Given the description of an element on the screen output the (x, y) to click on. 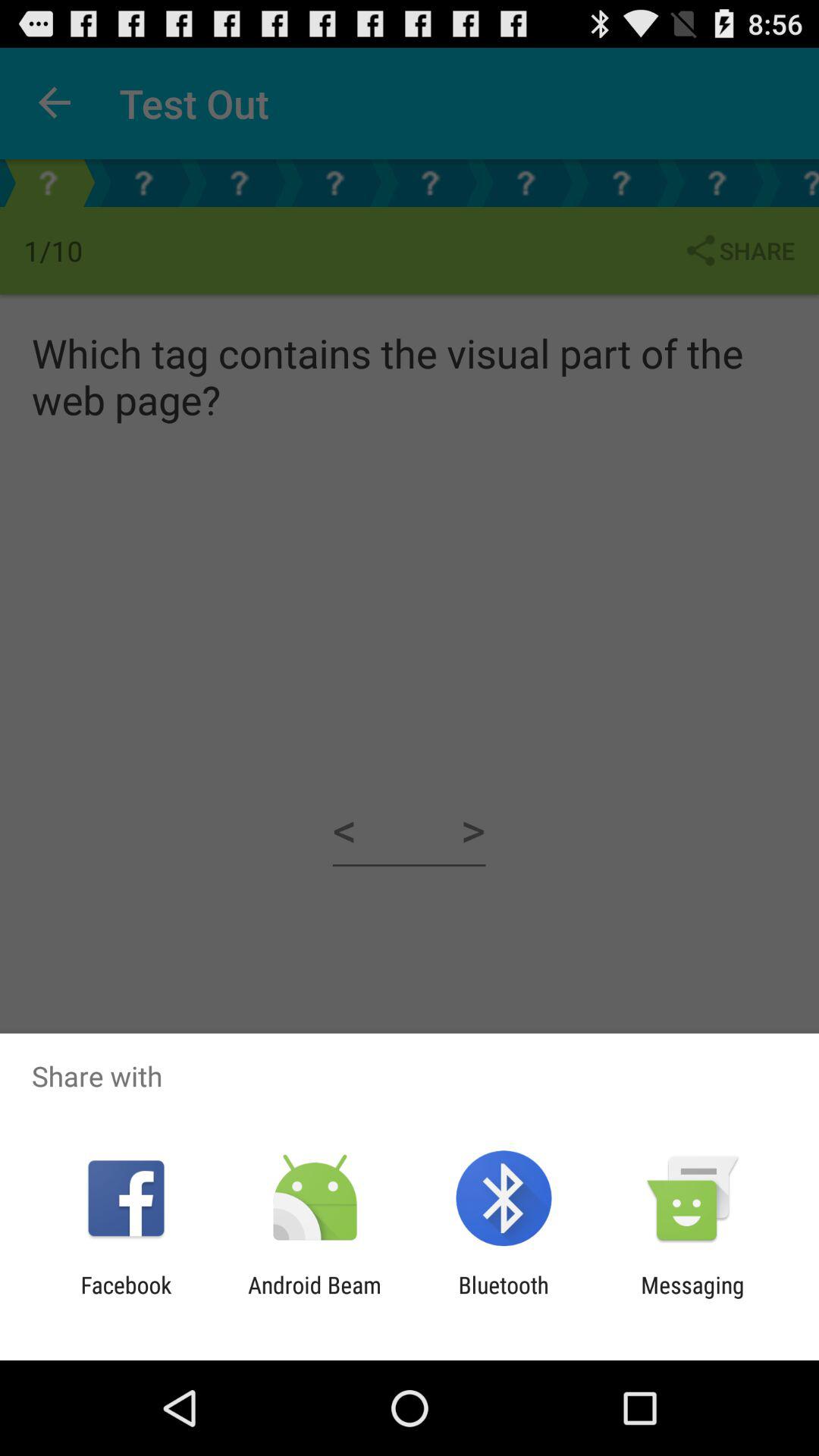
choose the app to the left of bluetooth (314, 1298)
